Given the description of an element on the screen output the (x, y) to click on. 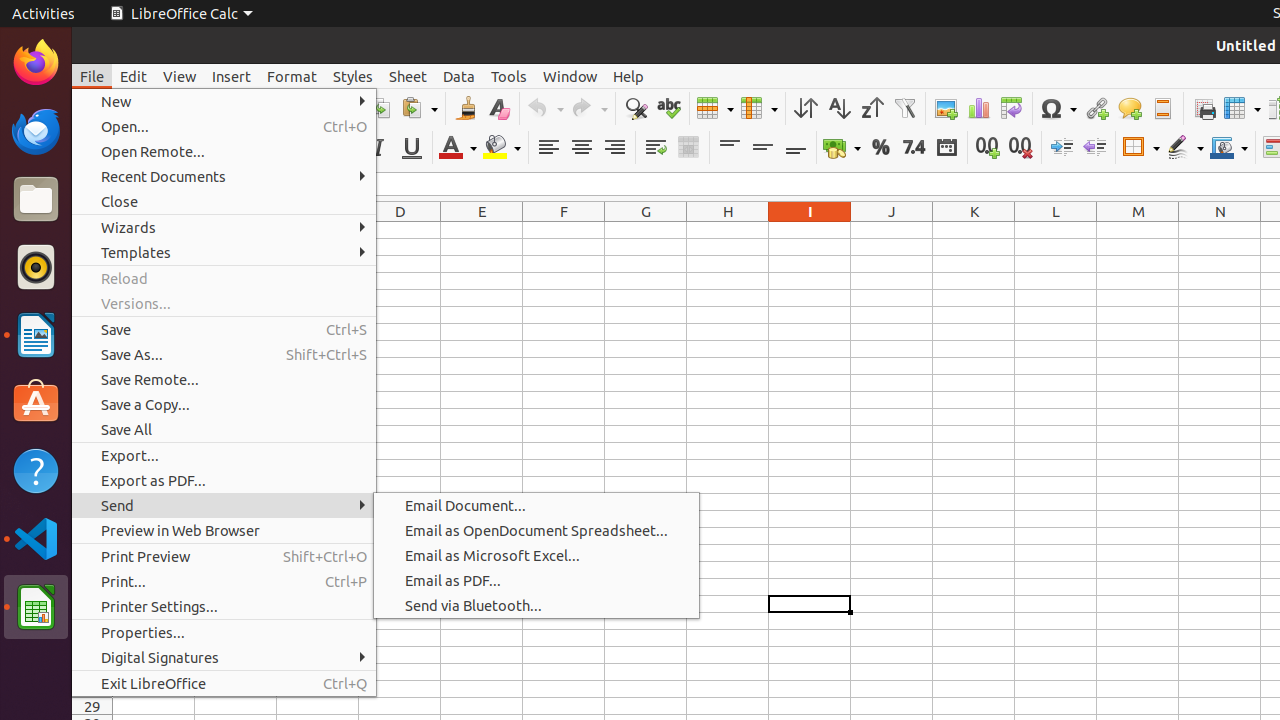
Headers and Footers Element type: push-button (1162, 108)
Comment Element type: push-button (1129, 108)
Sort Ascending Element type: push-button (838, 108)
Wizards Element type: menu (224, 227)
Properties... Element type: menu-item (224, 632)
